Given the description of an element on the screen output the (x, y) to click on. 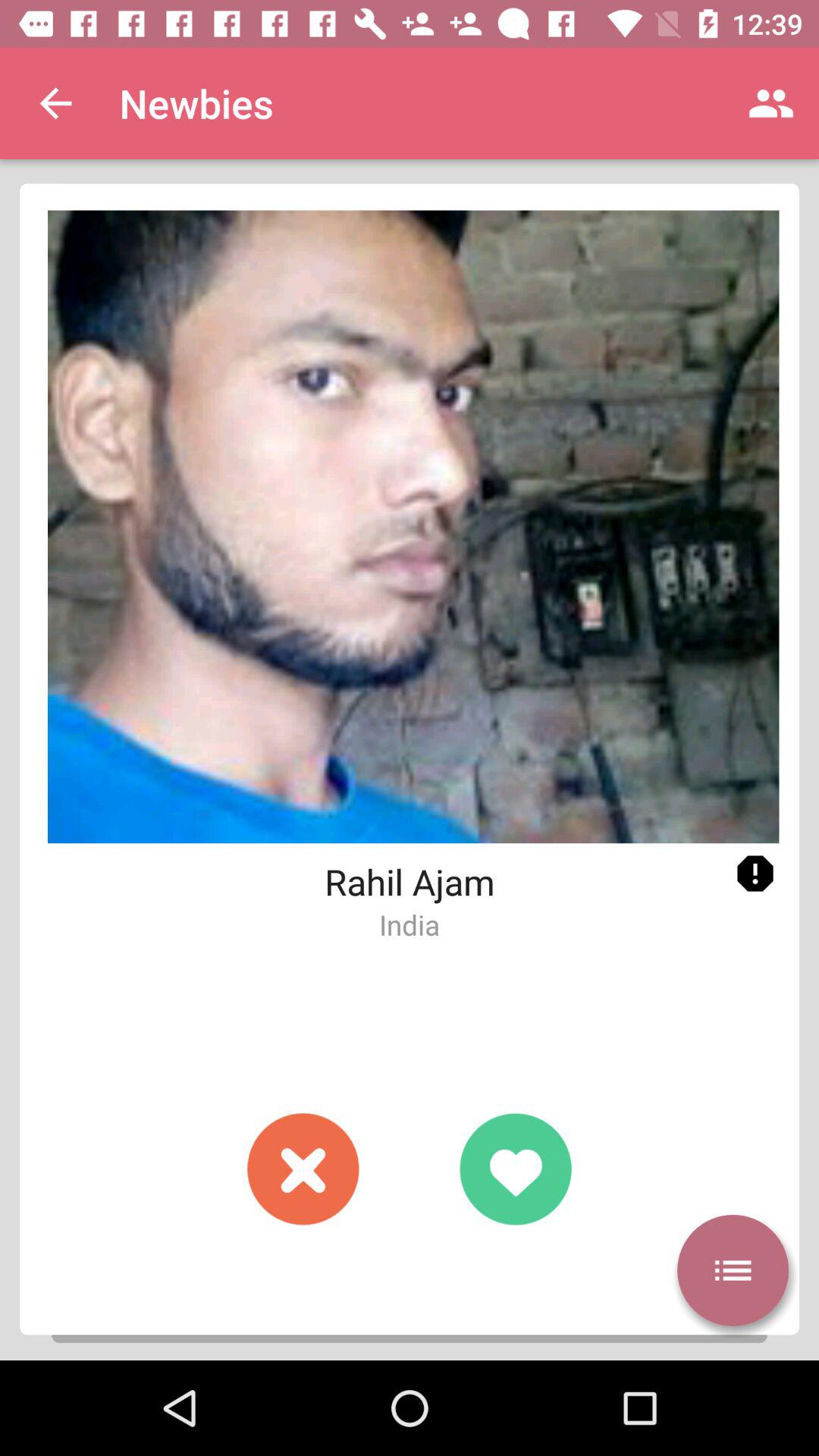
click on forms icon which is at the bottom right corner (733, 1269)
